Given the description of an element on the screen output the (x, y) to click on. 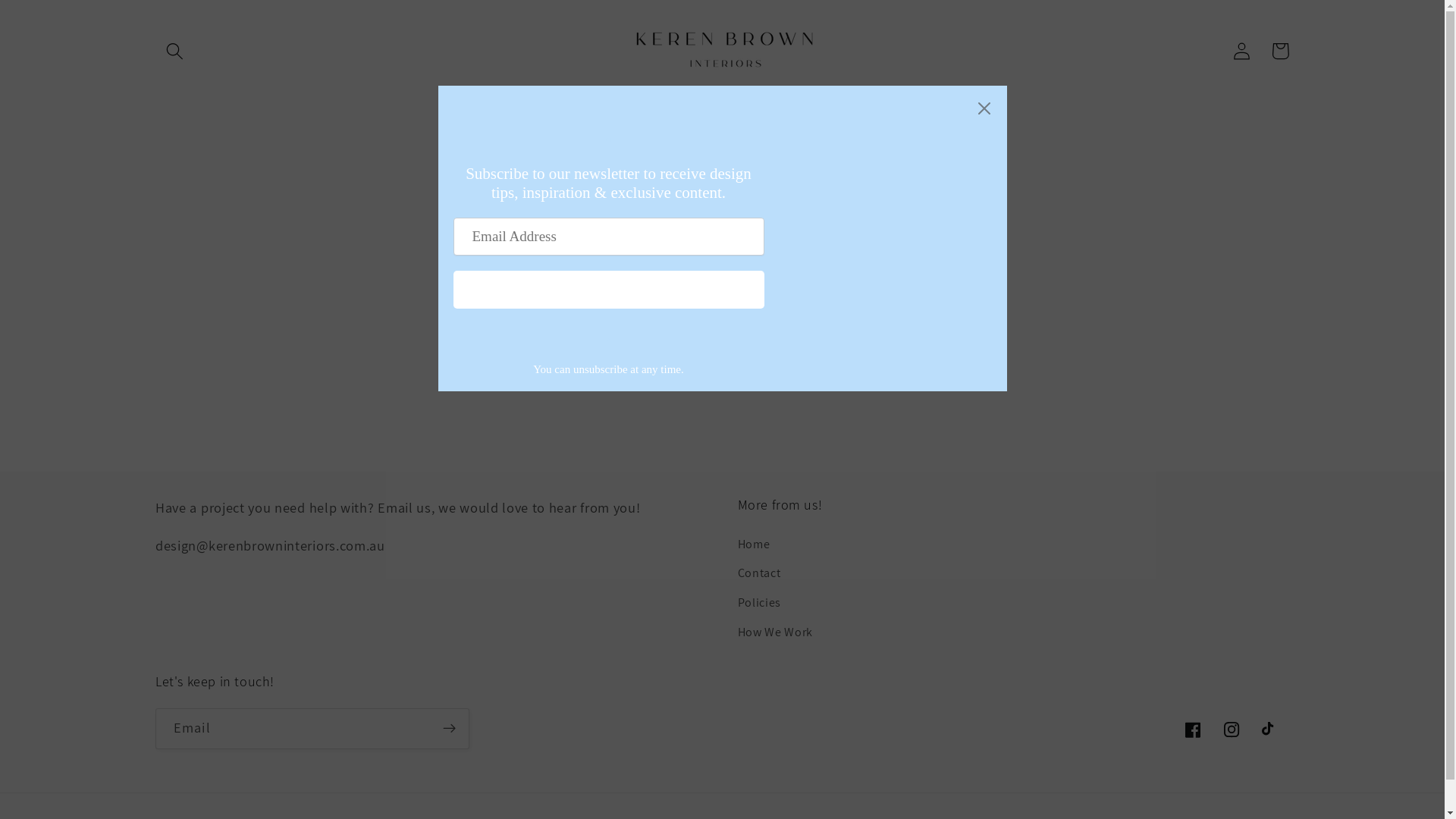
Policies Element type: text (759, 602)
Continue shopping Element type: text (721, 360)
How We Work Element type: text (774, 631)
SHOP Element type: text (837, 111)
Cart Element type: text (1280, 50)
Contact Element type: text (758, 573)
Instagram Element type: text (1231, 729)
Home Element type: text (753, 545)
PORTFOLIO Element type: text (767, 111)
ABOUT Element type: text (590, 111)
TikTok Element type: text (1269, 729)
Facebook Element type: text (1192, 729)
HOME Element type: text (533, 111)
Log in Element type: text (1242, 50)
CONTACT Element type: text (901, 111)
HOW WE WORK Element type: text (672, 111)
